Given the description of an element on the screen output the (x, y) to click on. 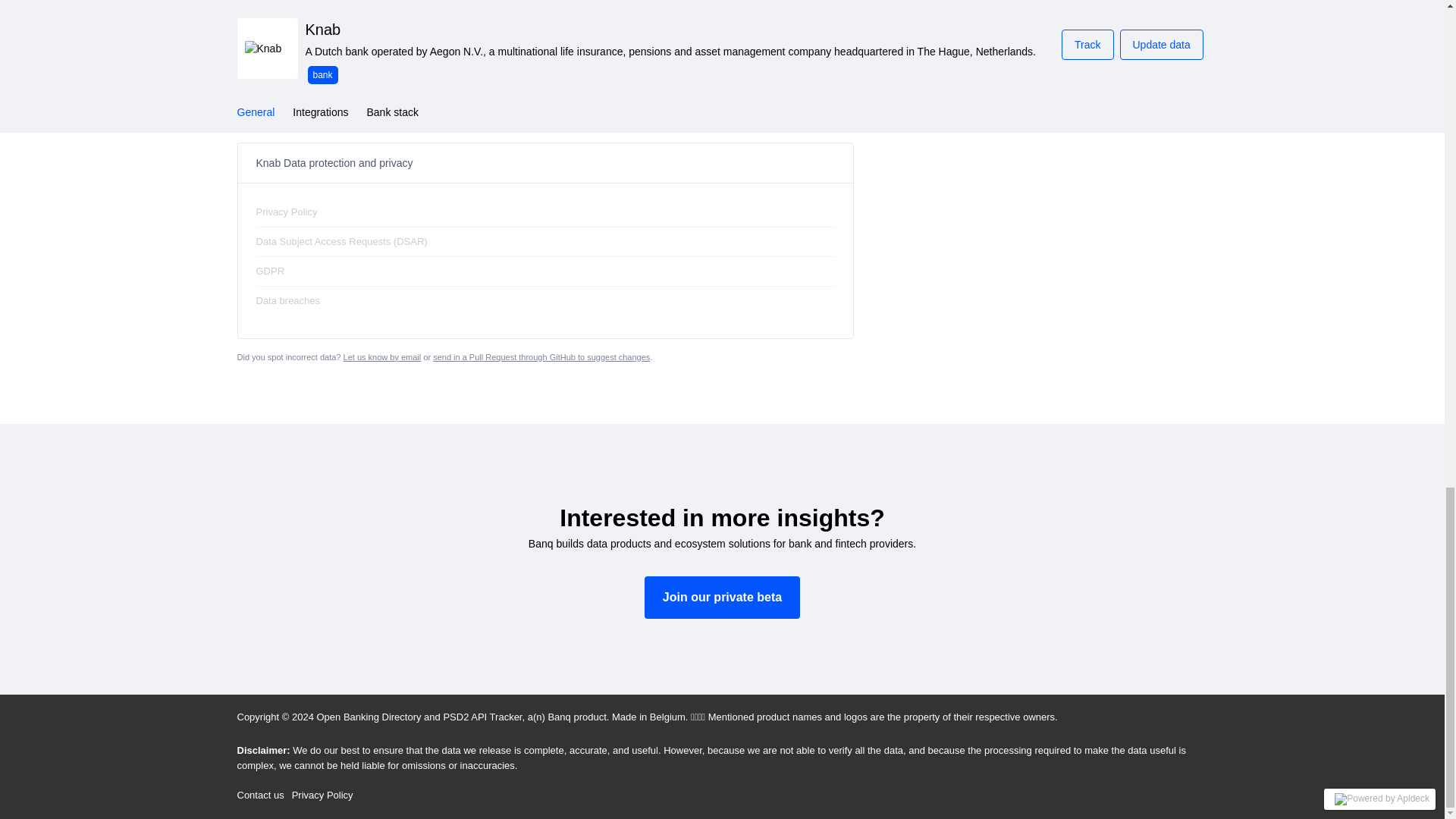
Let us know by email (382, 356)
Banq (558, 716)
Join our private beta (722, 597)
send in a Pull Request through GitHub to suggest changes (540, 356)
